Given the description of an element on the screen output the (x, y) to click on. 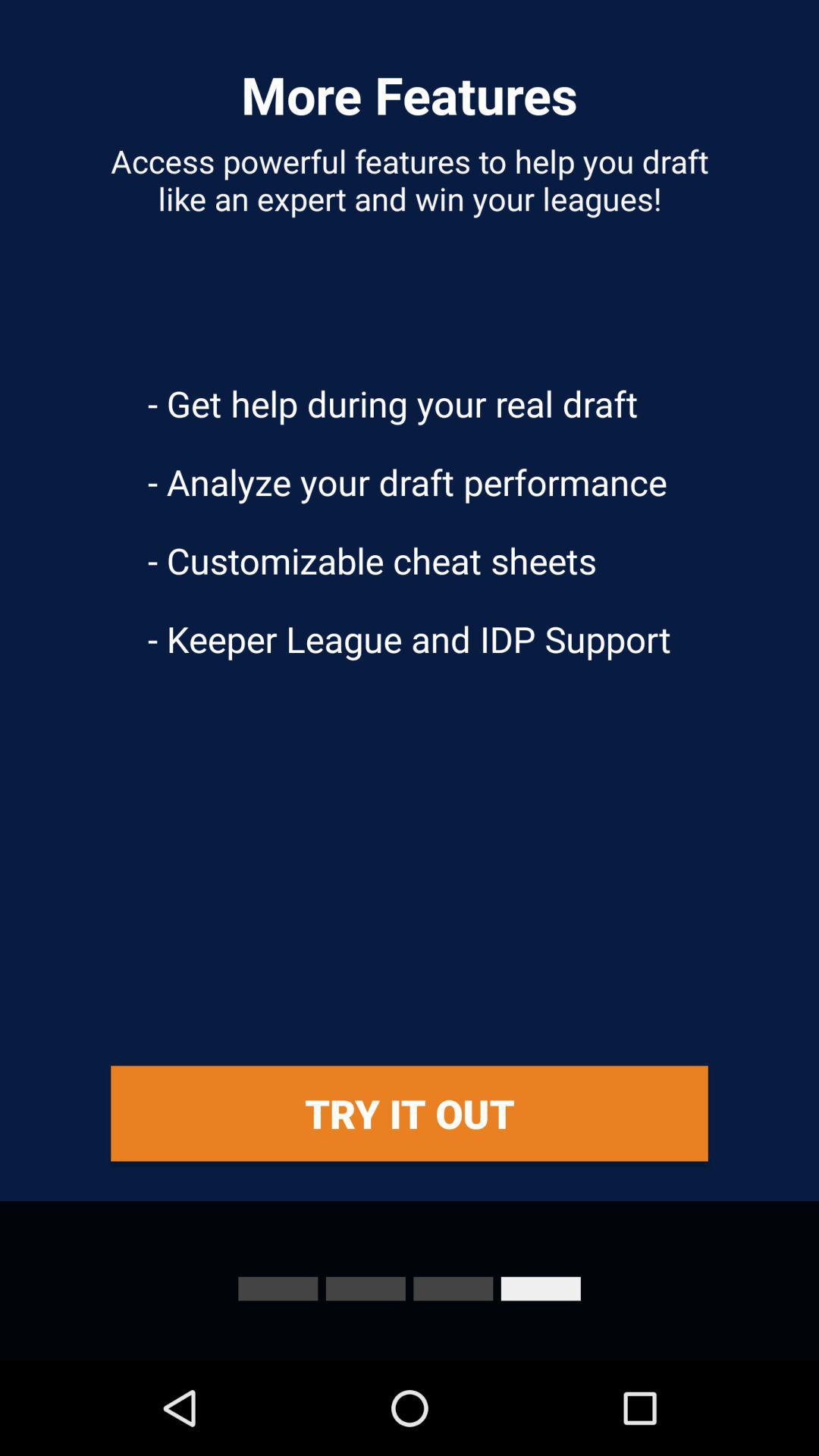
swipe until the try it out item (409, 1113)
